Given the description of an element on the screen output the (x, y) to click on. 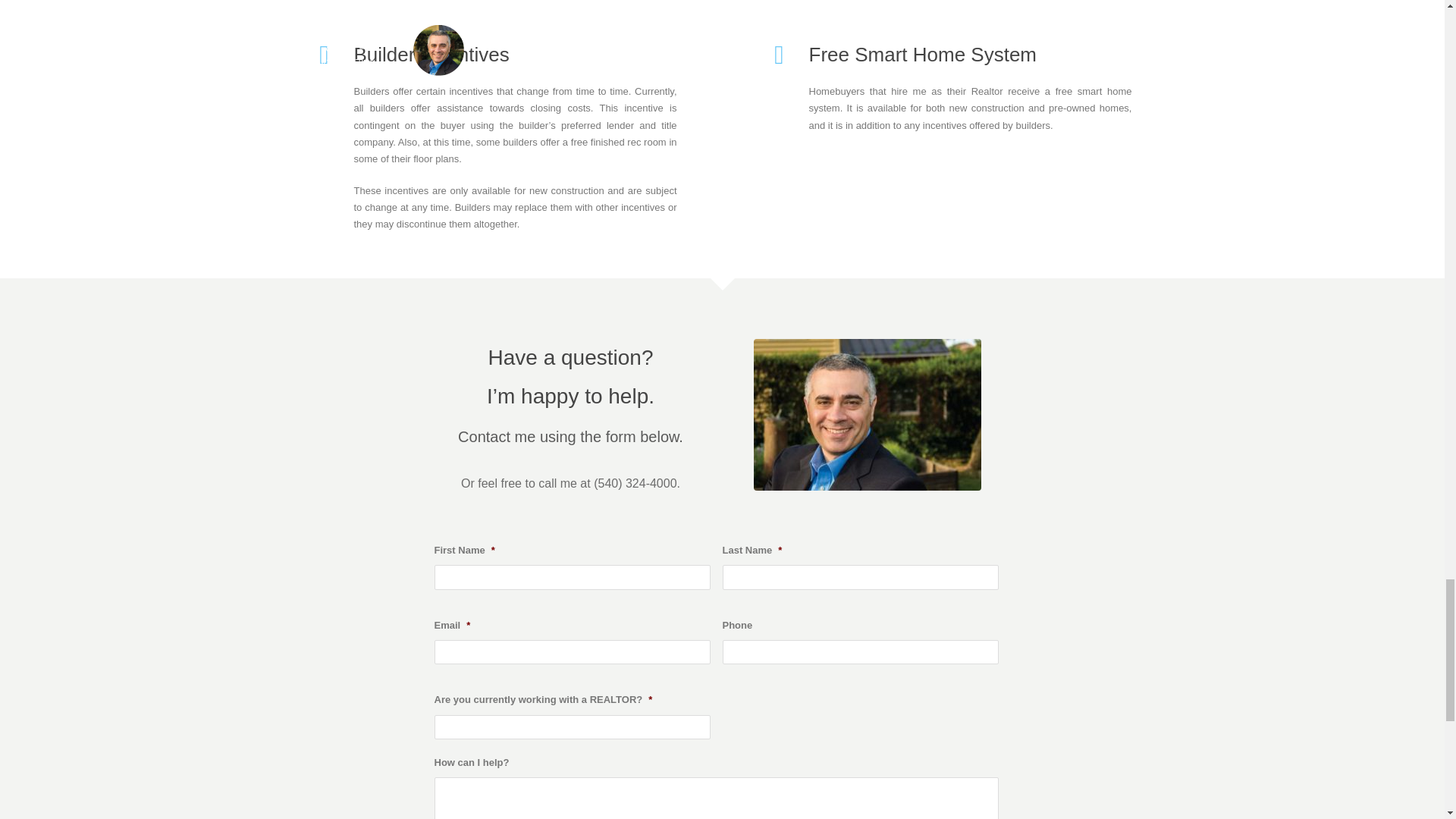
Theo (867, 414)
